Given the description of an element on the screen output the (x, y) to click on. 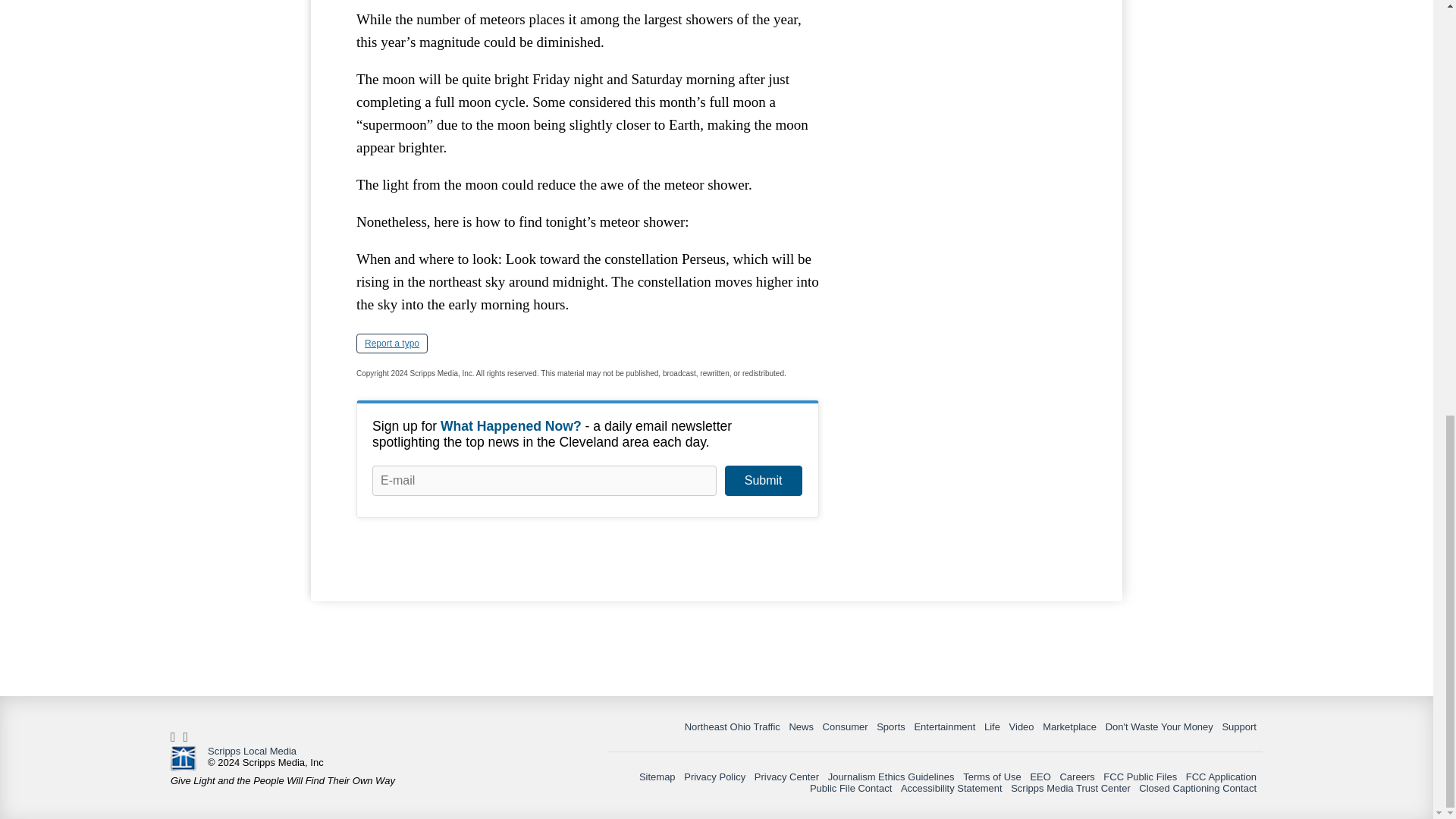
Submit (763, 481)
